Given the description of an element on the screen output the (x, y) to click on. 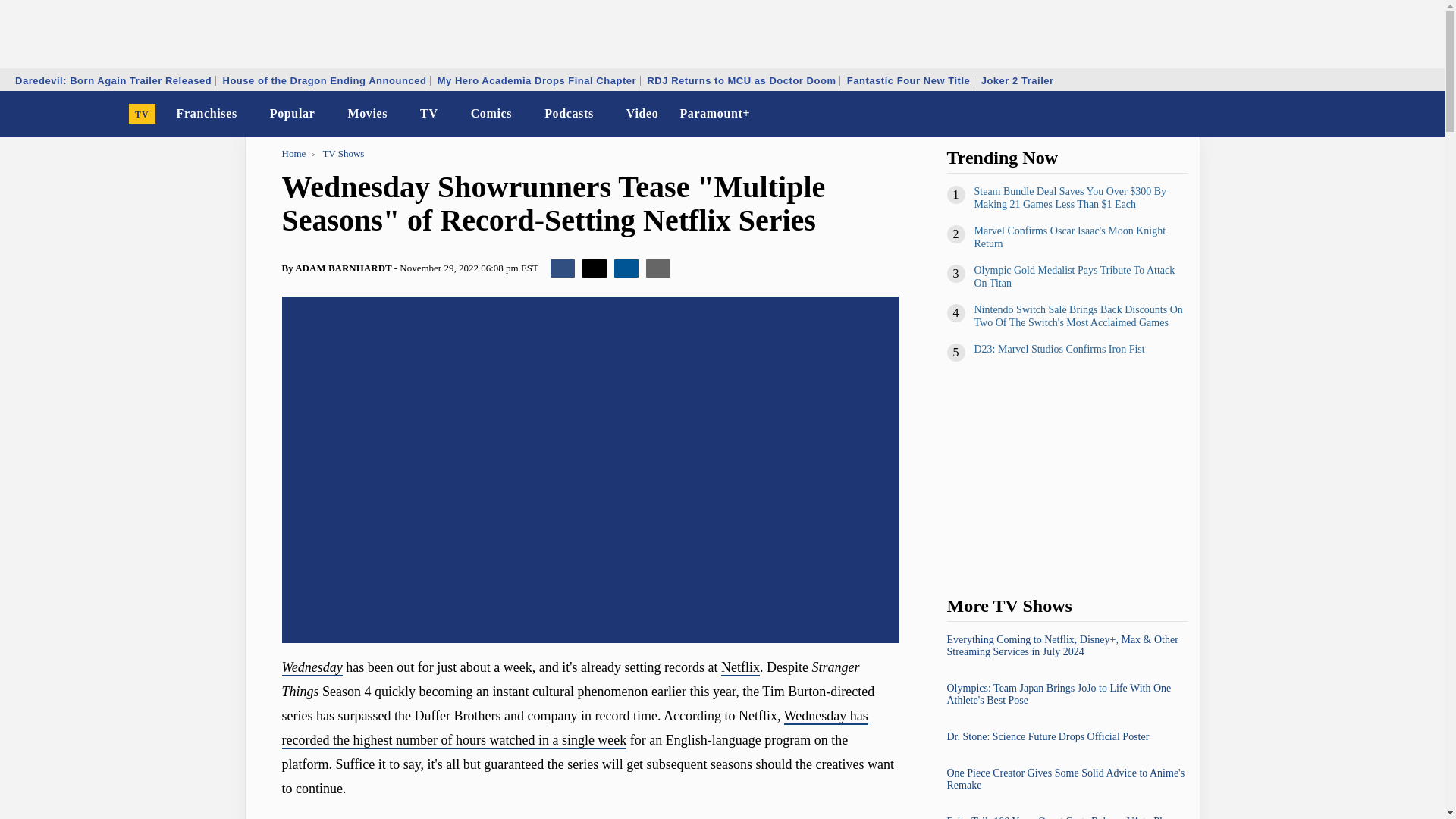
House of the Dragon Ending Announced (323, 80)
Movies (366, 113)
Dark Mode (1394, 113)
Fantastic Four New Title (908, 80)
RDJ Returns to MCU as Doctor Doom (741, 80)
TV (142, 113)
Search (1422, 114)
Daredevil: Born Again Trailer Released (113, 80)
My Hero Academia Drops Final Chapter (536, 80)
